Given the description of an element on the screen output the (x, y) to click on. 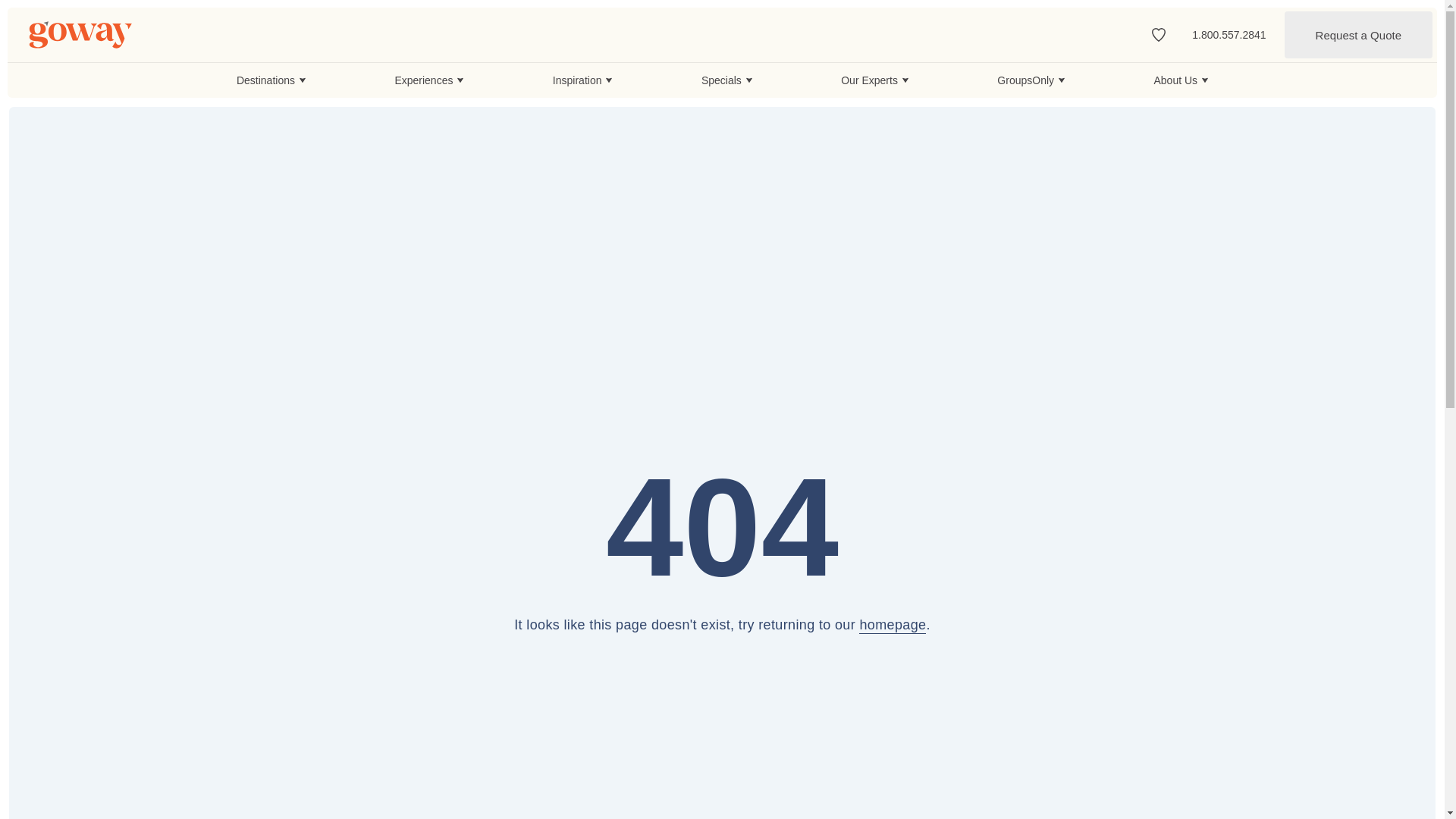
1.800.557.2841 (1228, 34)
Destinations (270, 80)
Request a Quote (1358, 34)
